Given the description of an element on the screen output the (x, y) to click on. 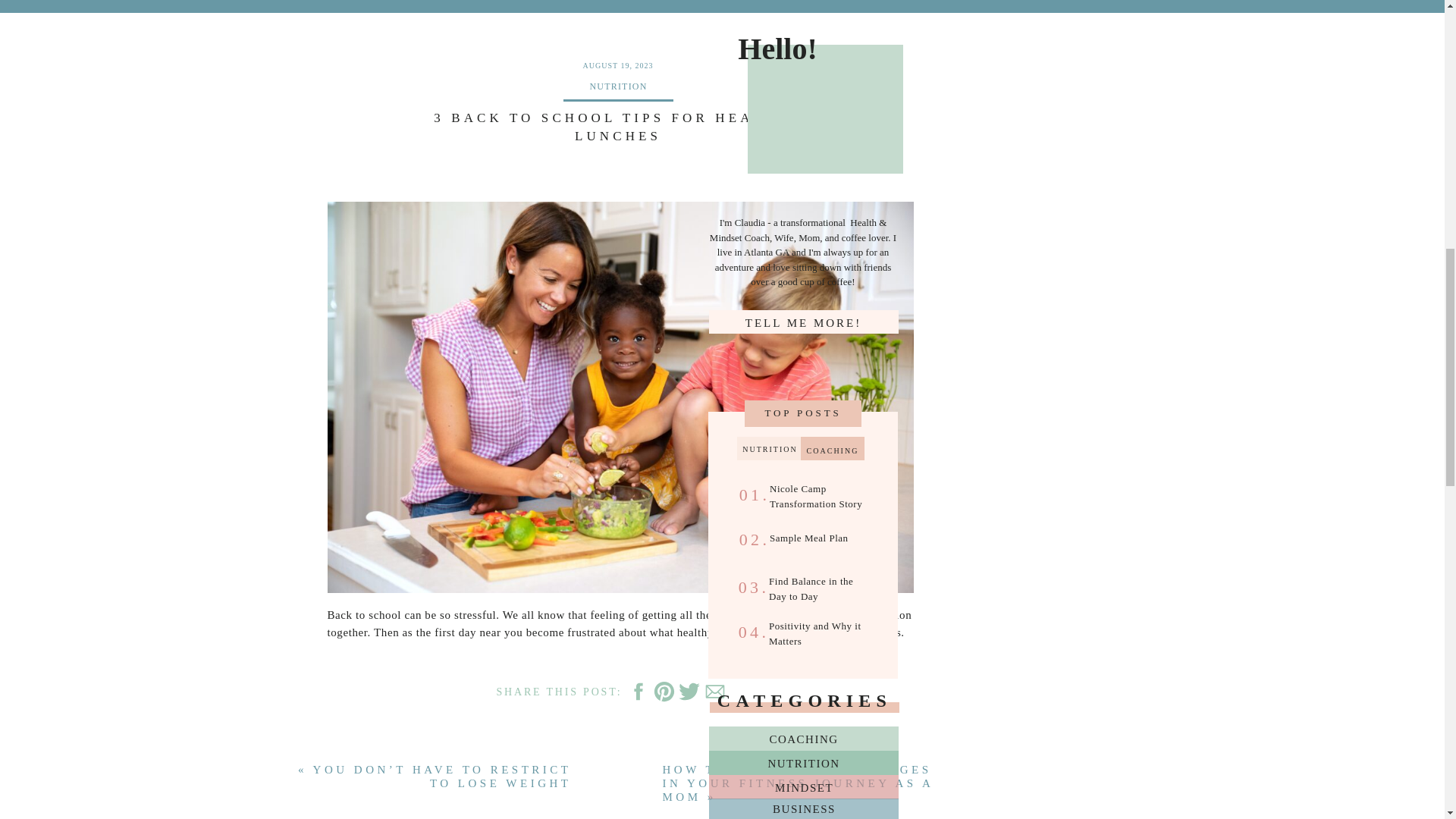
COACHING (832, 448)
Nicole Camp Transformation Story (820, 493)
NUTRITION (770, 448)
Sample Meal Plan (820, 543)
Positivity and Why it Matters (822, 631)
COACHING (803, 738)
NUTRITION (803, 762)
Find Balance in the Day to Day (818, 586)
